Given the description of an element on the screen output the (x, y) to click on. 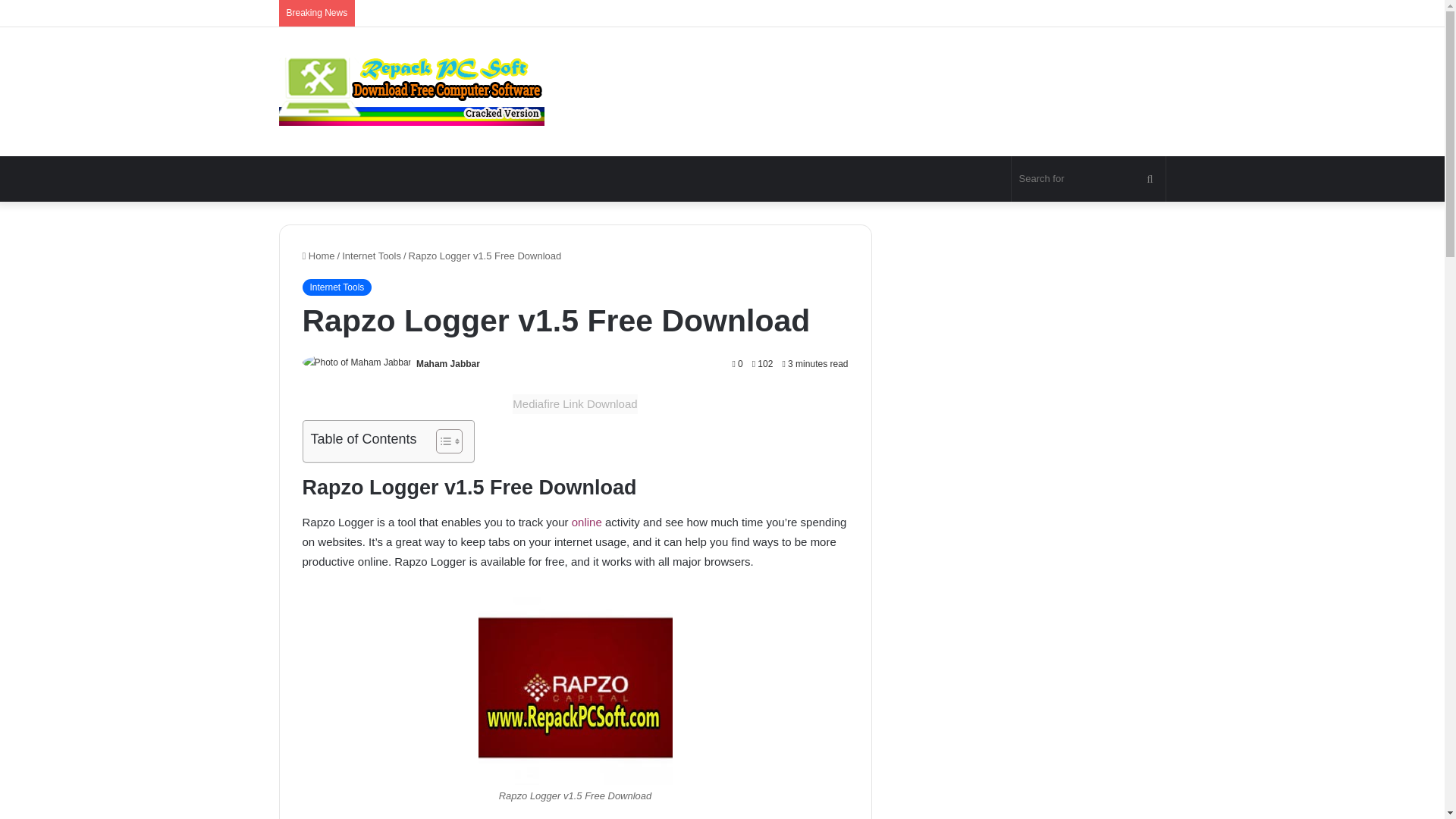
Home (317, 255)
Maham Jabbar (448, 363)
Internet Tools (371, 255)
Search for (1088, 178)
Internet Tools (336, 287)
Mediafire Link Download (574, 403)
online (588, 521)
Rapzo Logger v1.5 Free Download (574, 687)
Maham Jabbar (448, 363)
Latest Software Pre Activated - Cracked Free Download (411, 91)
